Given the description of an element on the screen output the (x, y) to click on. 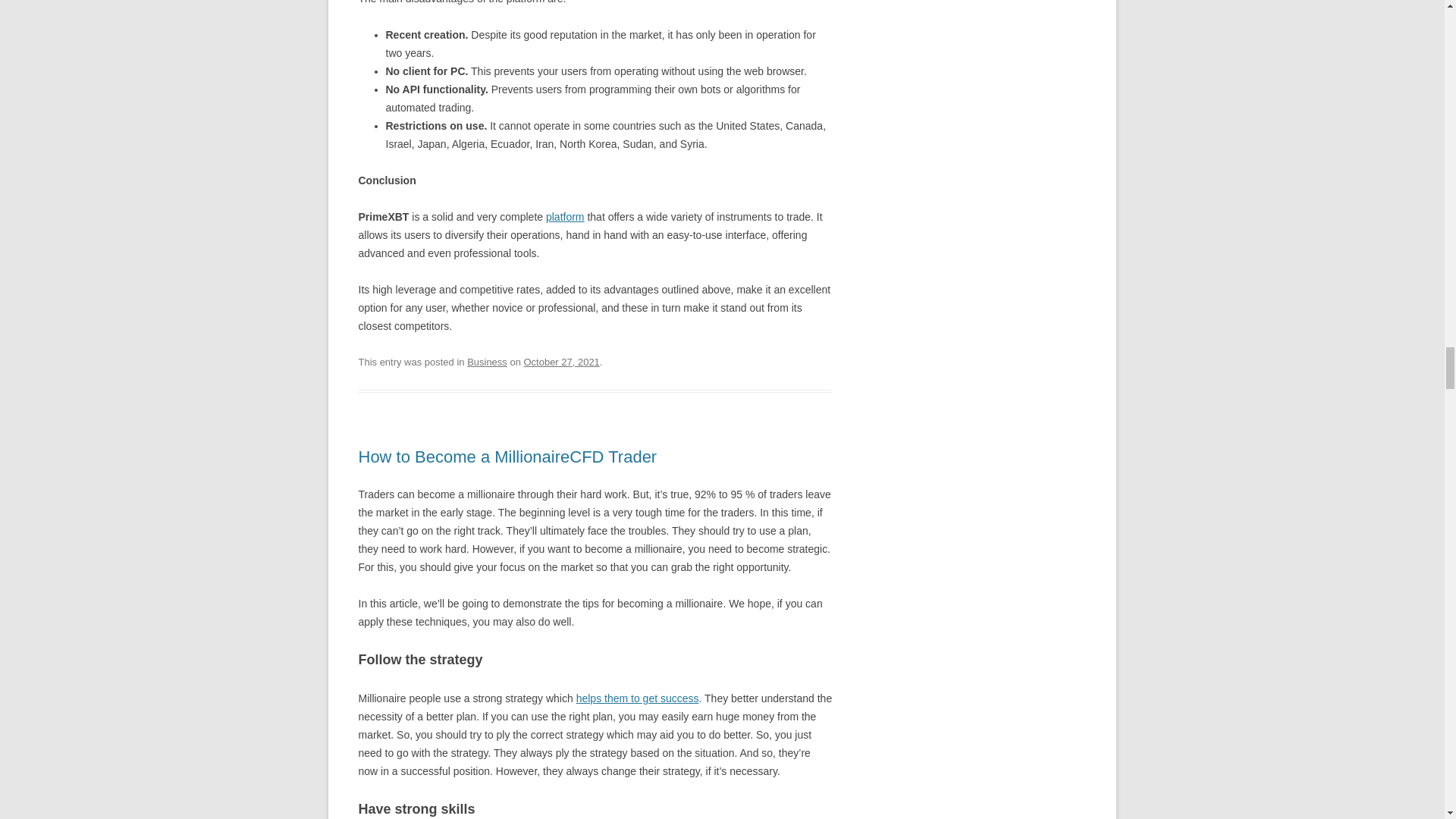
October 27, 2021 (560, 361)
helps them to get success (637, 698)
Business (486, 361)
How to Become a MillionaireCFD Trader (507, 456)
platform (565, 216)
8:18 am (560, 361)
